Given the description of an element on the screen output the (x, y) to click on. 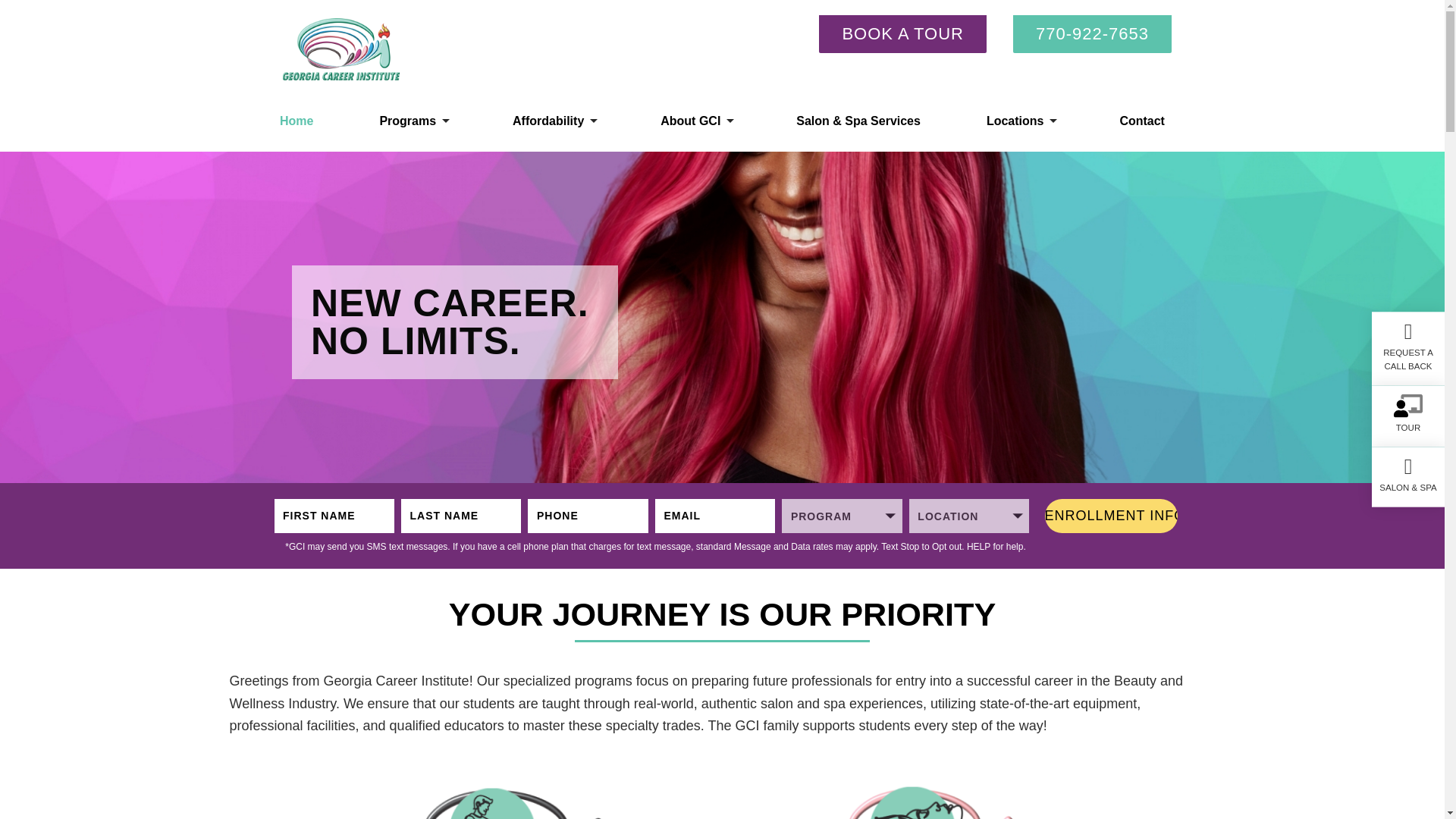
Enrollment Info! (1111, 515)
BOOK A TOUR (902, 34)
770-922-7653 (1092, 34)
